Given the description of an element on the screen output the (x, y) to click on. 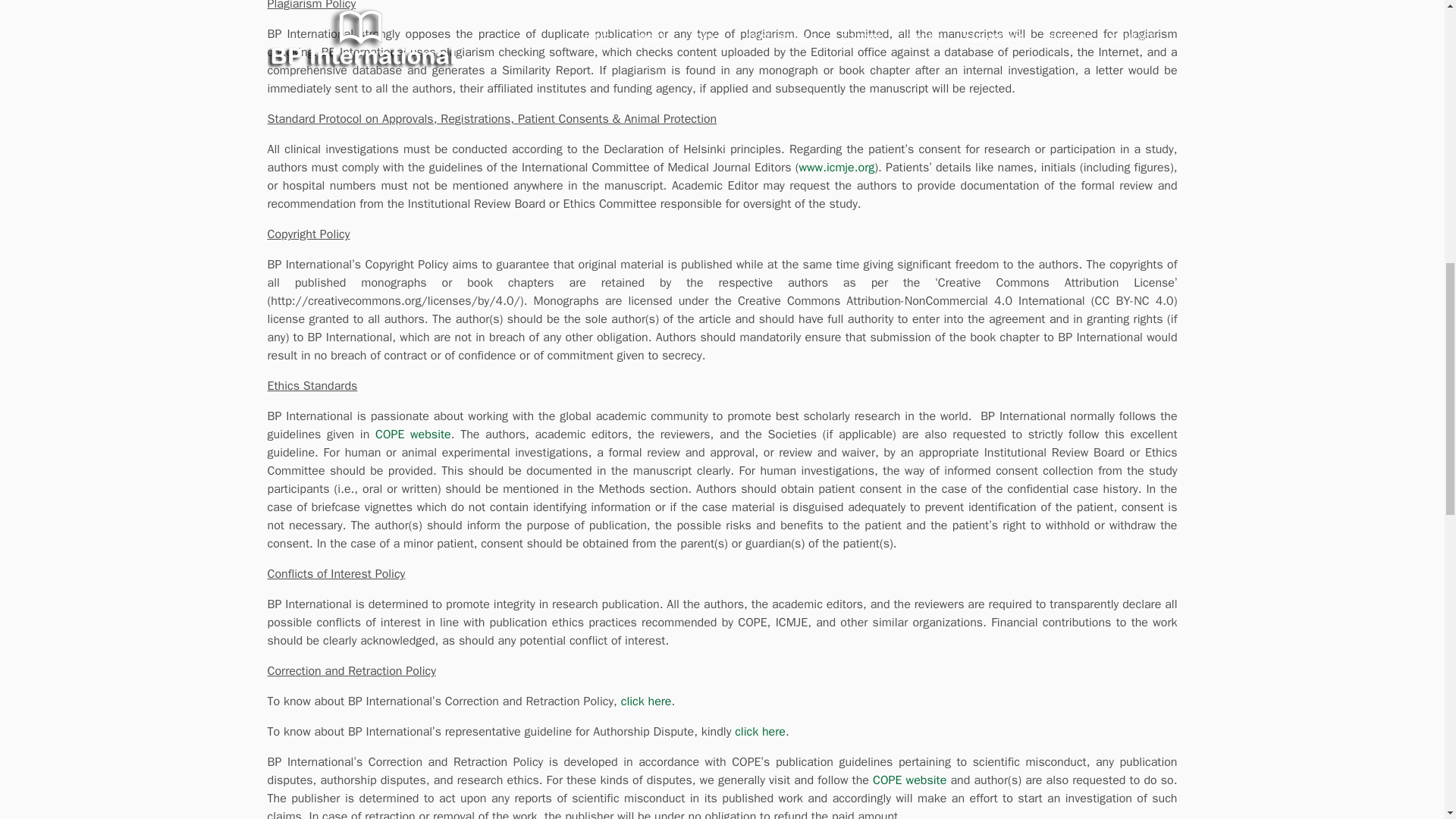
COPE website (909, 780)
click here (760, 731)
www.icmje.org (837, 167)
click here (646, 701)
COPE website (413, 434)
